Given the description of an element on the screen output the (x, y) to click on. 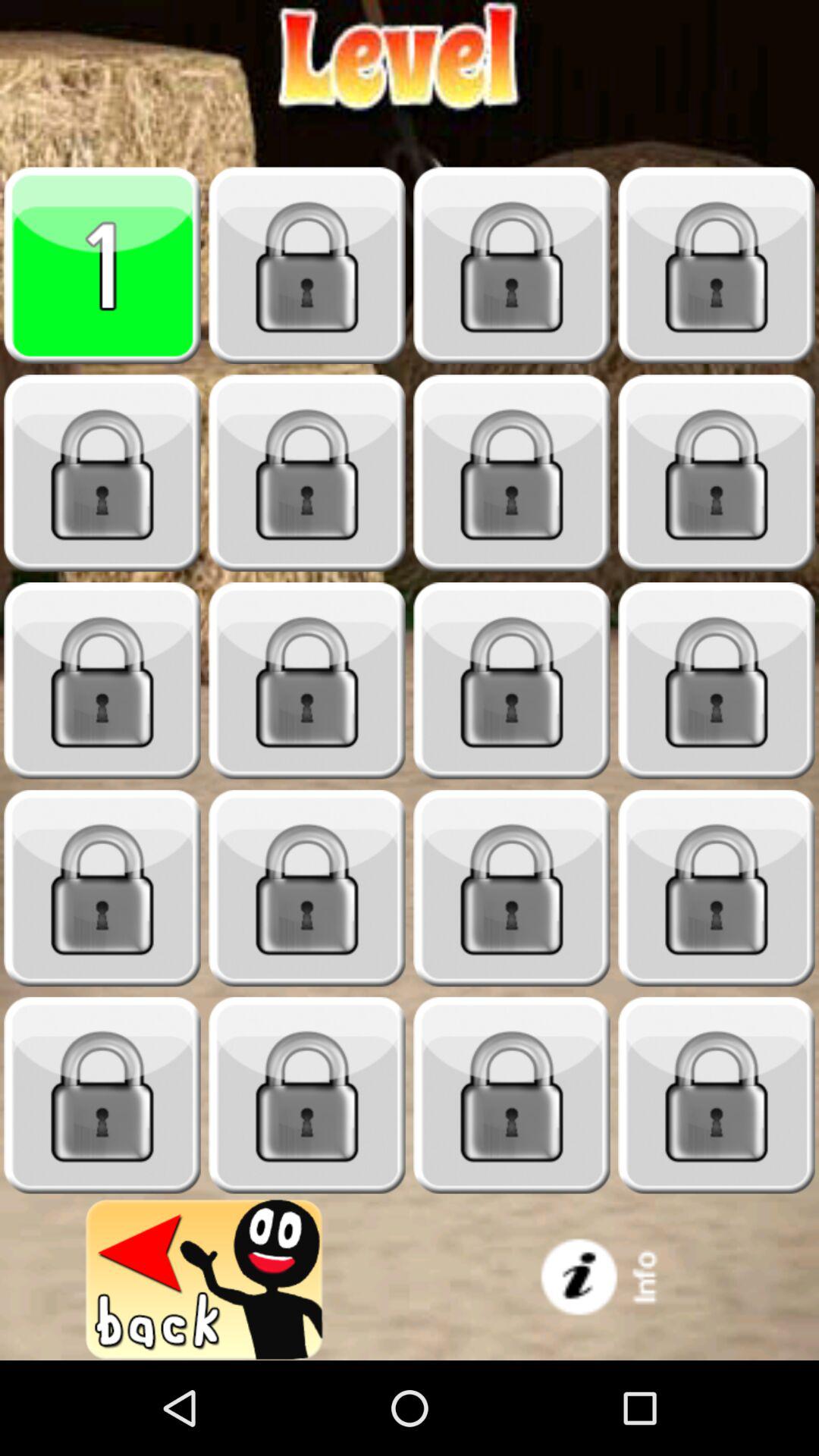
information on app (614, 1279)
